Given the description of an element on the screen output the (x, y) to click on. 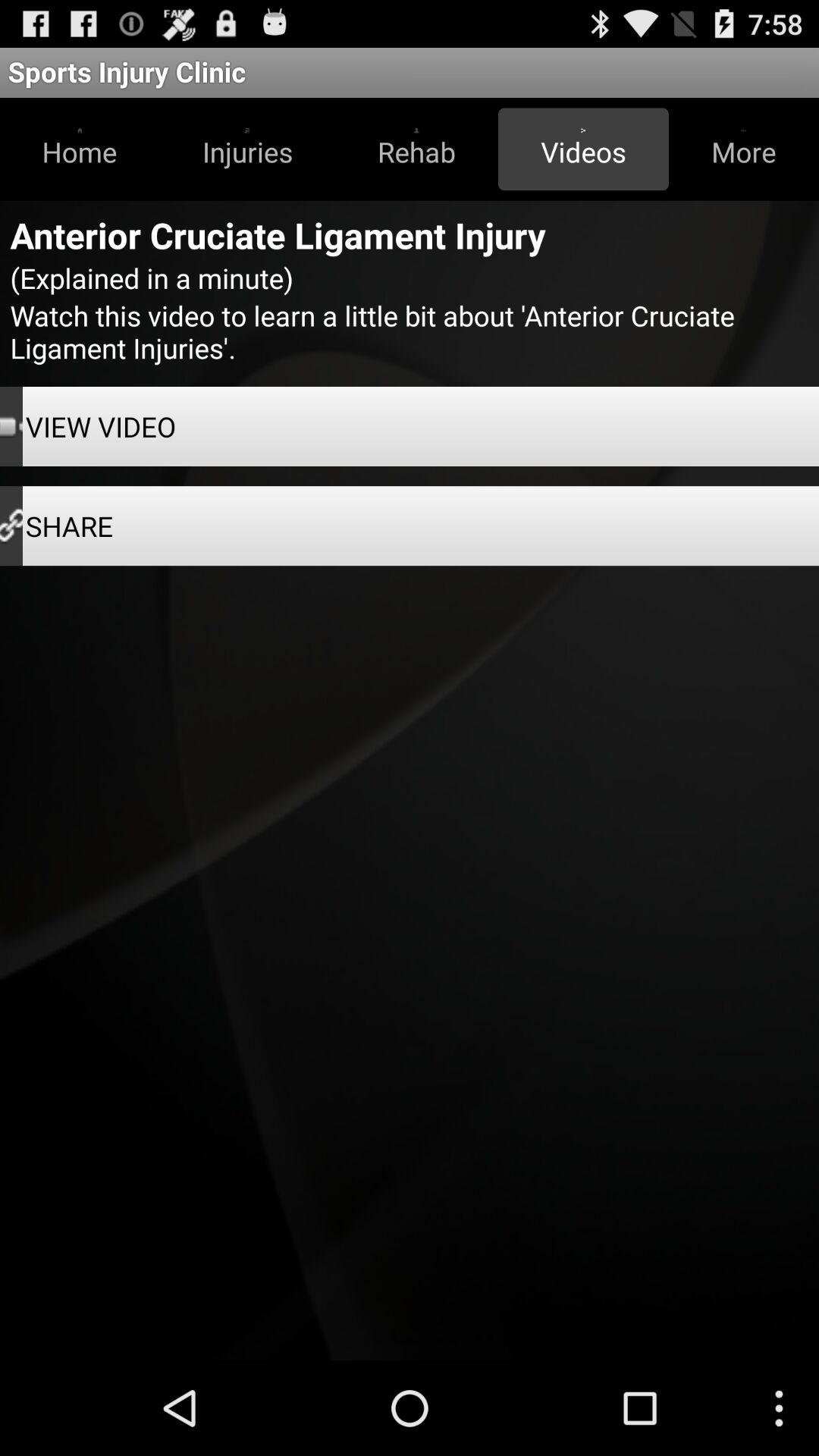
select button next to more item (583, 149)
